Given the description of an element on the screen output the (x, y) to click on. 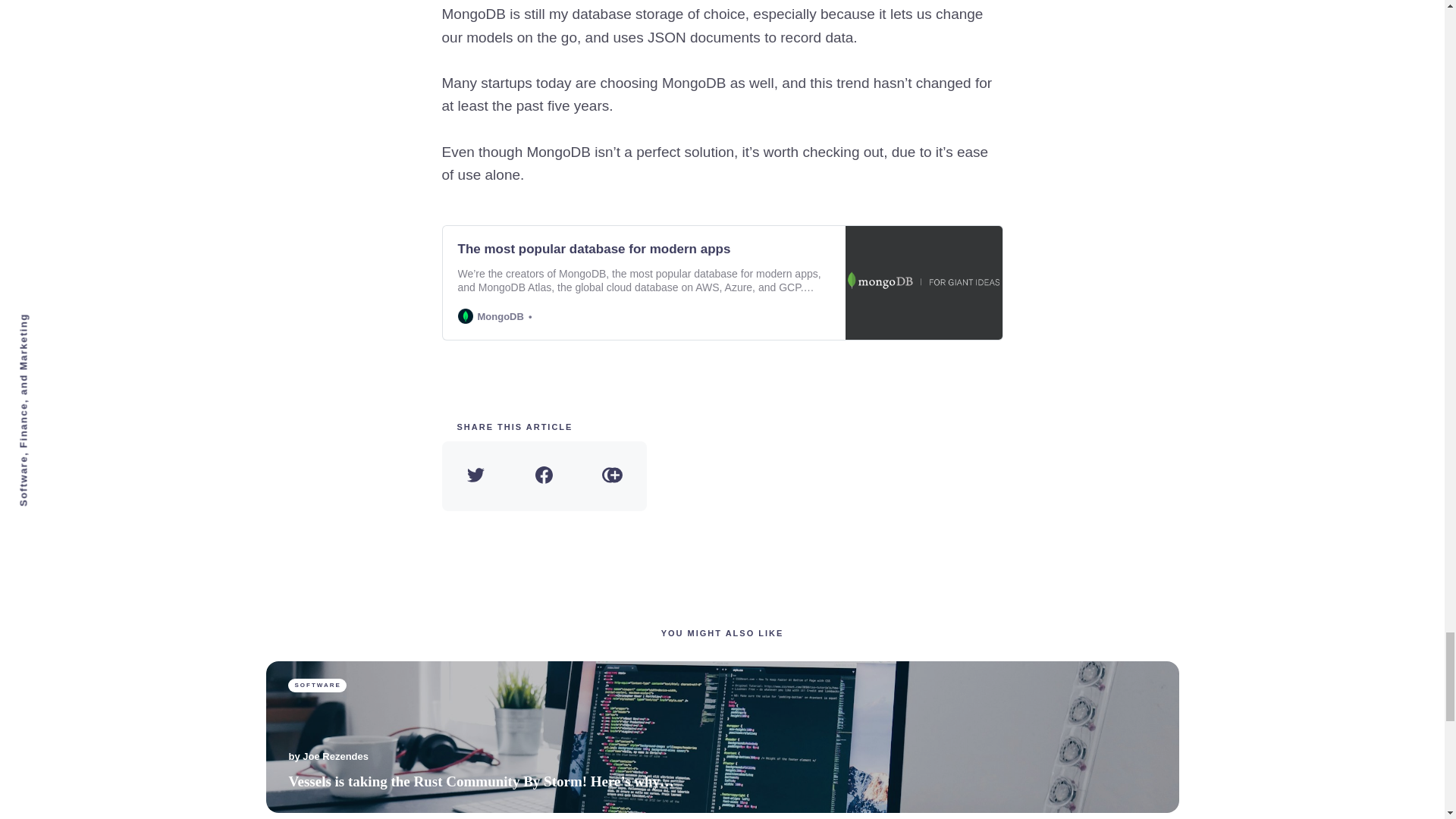
Joe Rezendes (335, 757)
